Given the description of an element on the screen output the (x, y) to click on. 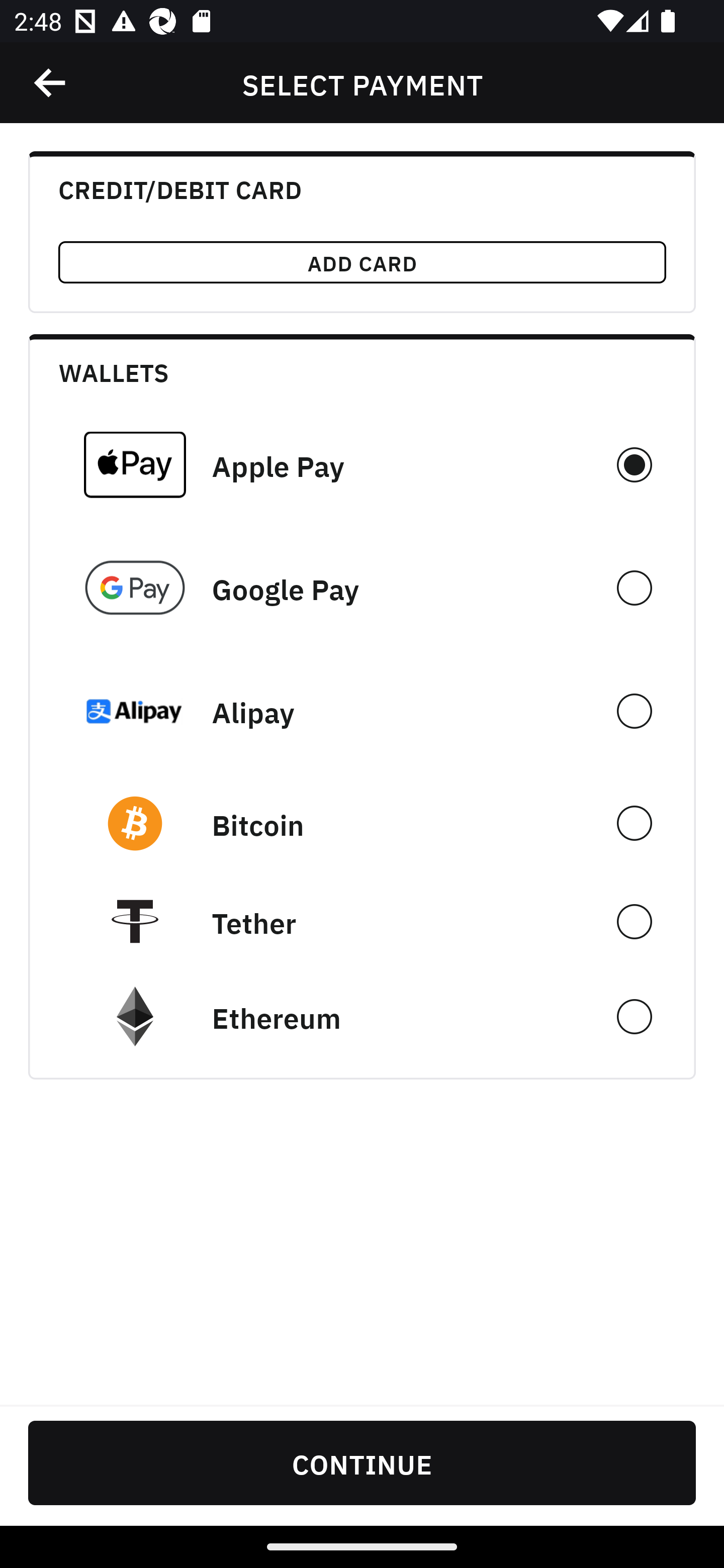
 (50, 83)
ADD CARD (362, 262)
Apple Pay (362, 464)
Google Pay (362, 587)
Alipay (362, 711)
󰠓 Bitcoin (362, 823)
Tether (362, 921)
Ethereum (362, 1016)
CONTINUE (361, 1462)
